Given the description of an element on the screen output the (x, y) to click on. 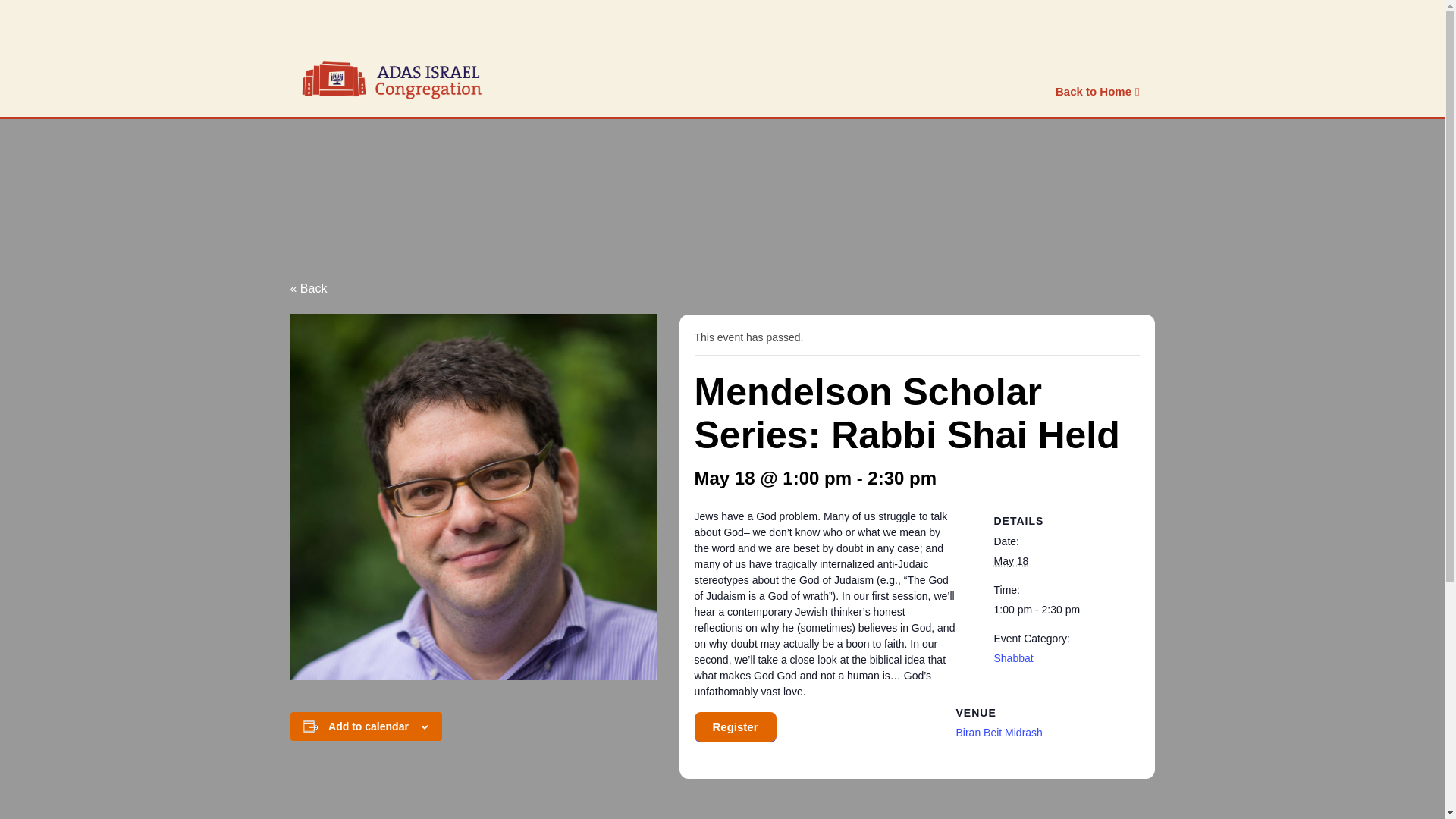
2024-05-18 (1009, 561)
Register (735, 726)
Shabbat (1012, 657)
Back to Home (1097, 87)
Biran Beit Midrash (998, 732)
Add to calendar (369, 726)
2024-05-18 (1056, 609)
